Given the description of an element on the screen output the (x, y) to click on. 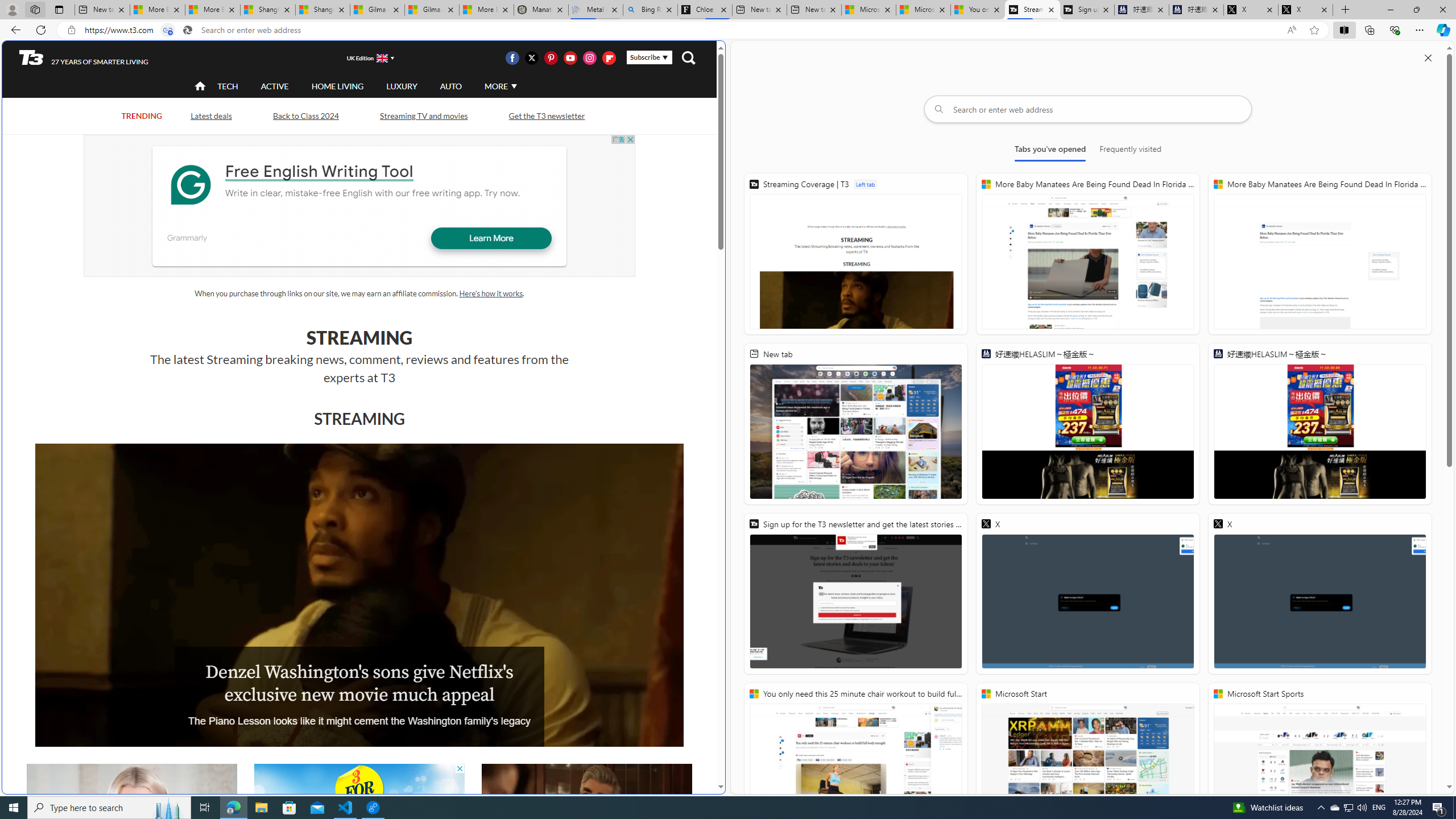
Shanghai, China weather forecast | Microsoft Weather (323, 9)
Manatee Mortality Statistics | FWC (541, 9)
home (200, 86)
Back to Class 2024 (305, 115)
Search or enter web address (1088, 108)
Streaming Coverage | T3 (1032, 9)
